Given the description of an element on the screen output the (x, y) to click on. 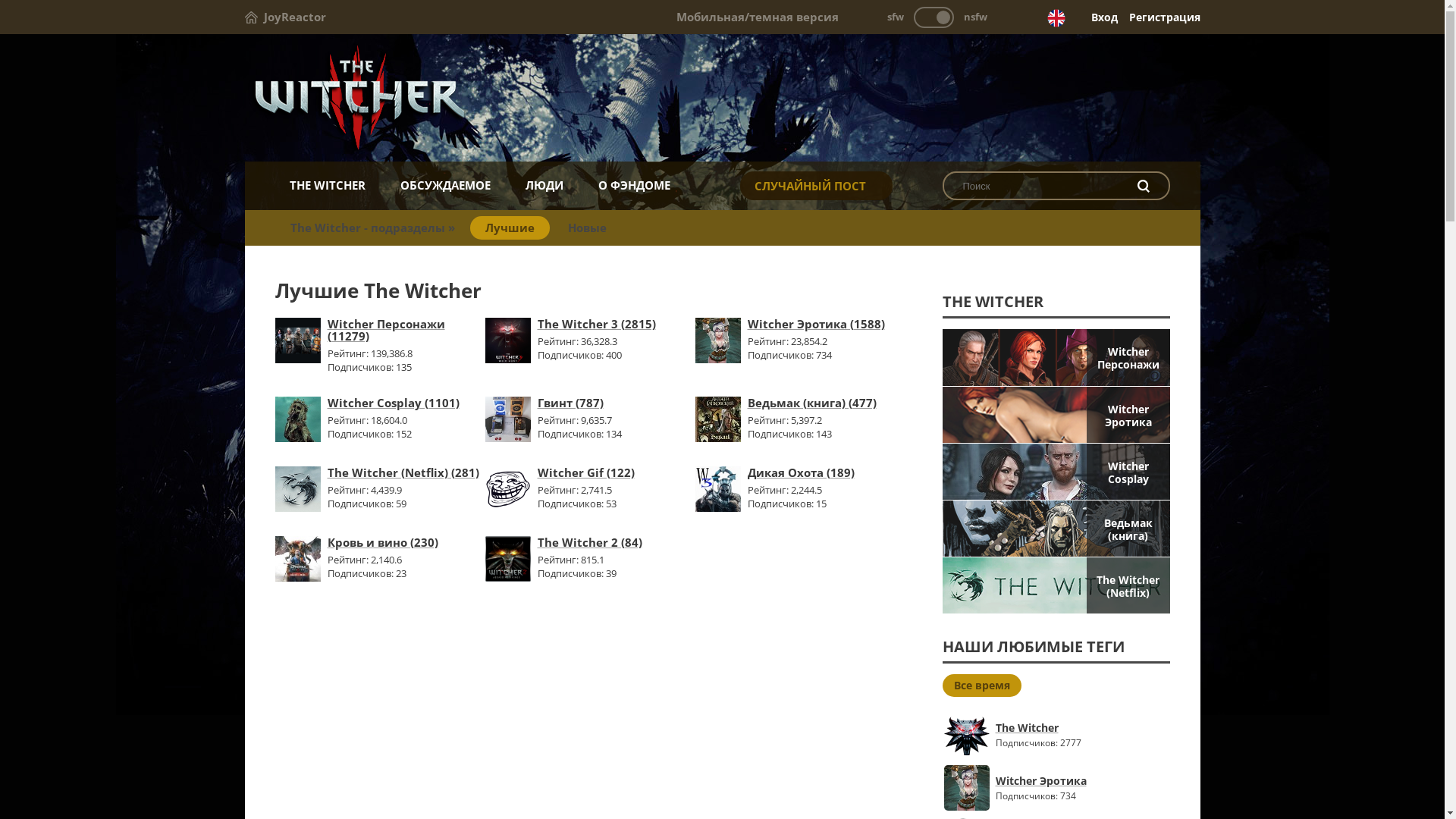
THE WITCHER Element type: text (326, 184)
Witcher Gif (122) Element type: text (584, 472)
The Witcher 2 (84) Element type: text (588, 541)
English version Element type: hover (1055, 18)
The Witcher Element type: text (721, 98)
The Witcher (Netflix) (281) Element type: text (403, 472)
Witcher Gif Element type: hover (507, 506)
The Witcher (Netflix) Element type: hover (297, 506)
The Witcher Element type: hover (968, 734)
Witcher Cosplay (1101) Element type: text (393, 402)
Witcher Cosplay Element type: hover (297, 437)
Witcher Cosplay Element type: text (1055, 471)
The Witcher (Netflix) Element type: text (1055, 585)
The Witcher Element type: text (1043, 727)
The Witcher 3 Element type: hover (507, 358)
The Witcher 2 Element type: hover (507, 576)
The Witcher 3 (2815) Element type: text (595, 323)
JoyReactor Element type: text (284, 17)
